Given the description of an element on the screen output the (x, y) to click on. 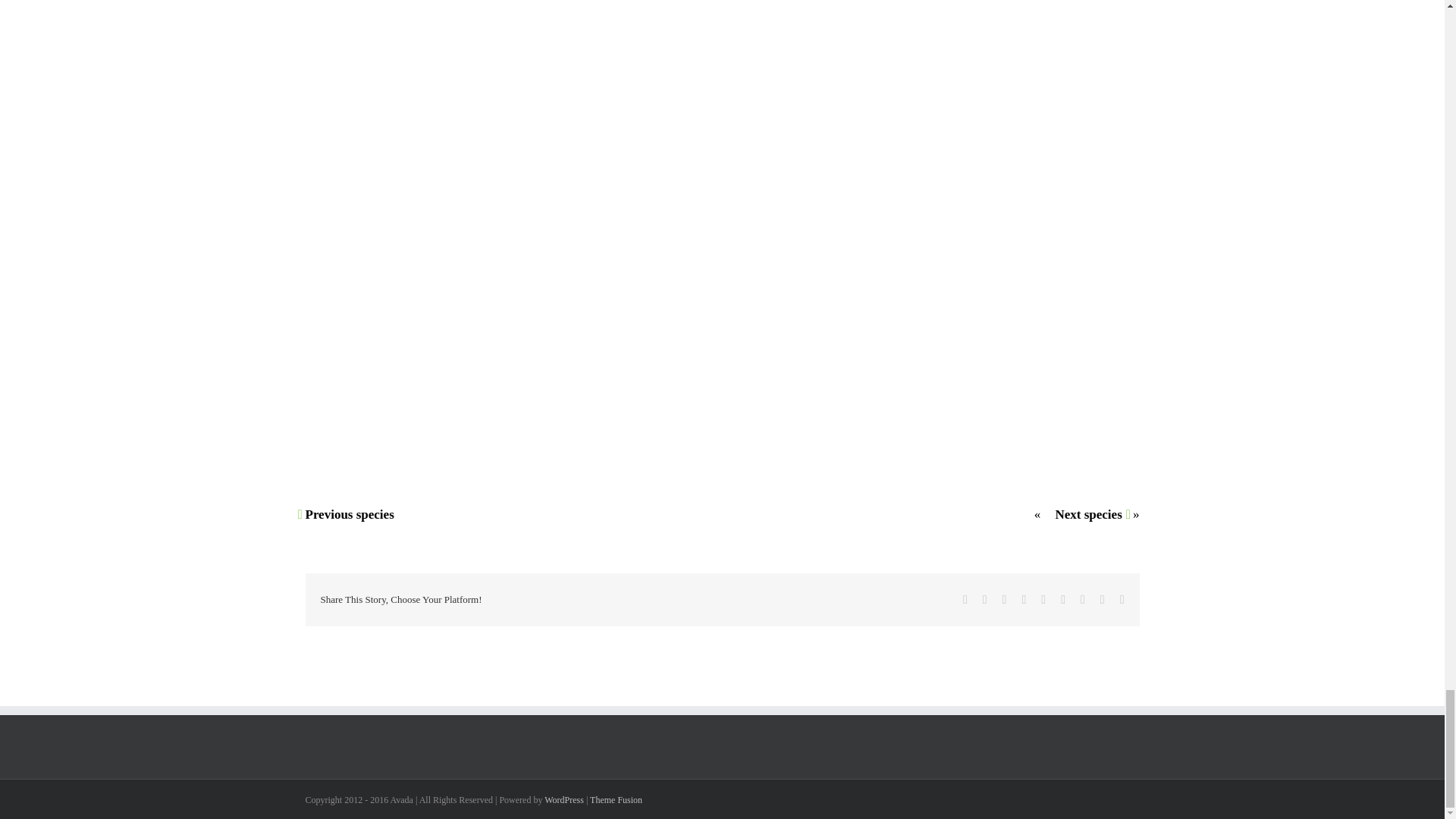
Previous species (348, 514)
Next species (1087, 514)
WordPress (563, 799)
Theme Fusion (615, 799)
